Given the description of an element on the screen output the (x, y) to click on. 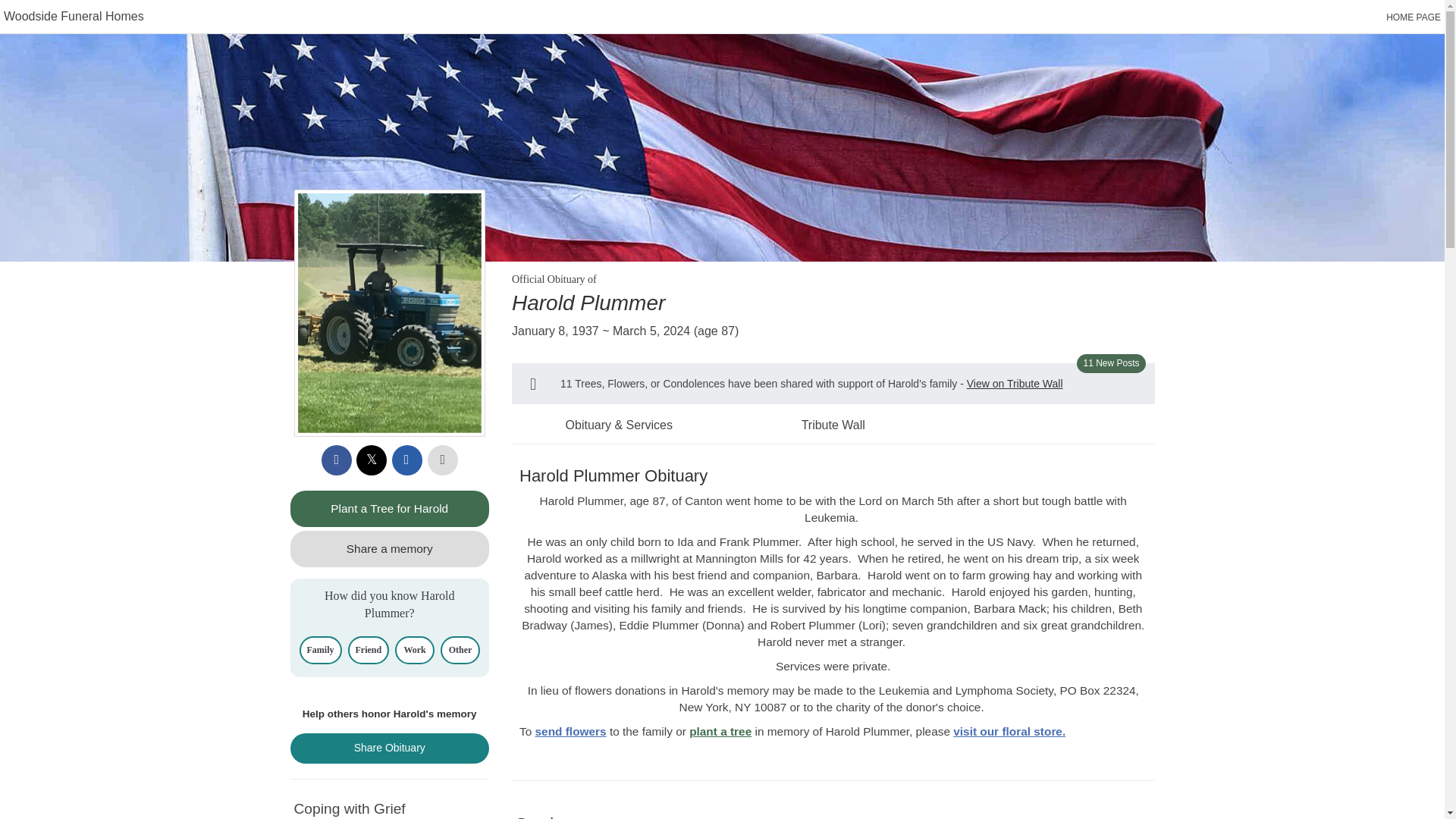
plant a tree (719, 730)
Share to Facebook (336, 460)
Share on X (371, 460)
Plant a Tree for Harold (389, 508)
View on Tribute Wall (1014, 383)
Share a memory (389, 548)
Woodside Funeral Homes (74, 15)
Share via email (406, 460)
send flowers (571, 730)
visit our floral store. (1009, 730)
Printable copy (443, 460)
Share Obituary (389, 748)
HOME PAGE (1413, 17)
